Given the description of an element on the screen output the (x, y) to click on. 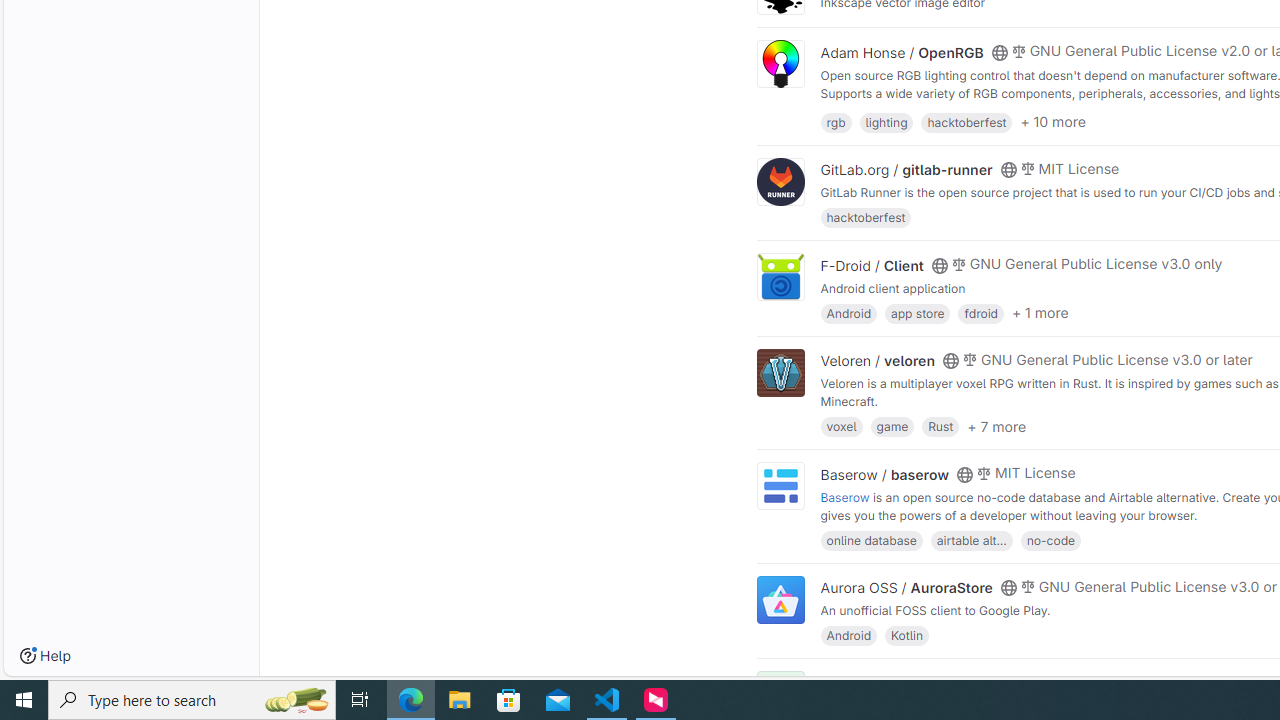
F-Droid / Client (872, 265)
airtable alt... (971, 539)
Adam Honse / OpenRGB (902, 52)
+ 7 more (996, 425)
Class: project (780, 599)
no-code (1050, 539)
online database (871, 539)
Baserow (845, 496)
Android (848, 634)
app store (917, 312)
voxel (841, 426)
Class: s16 (999, 683)
Baserow / baserow (884, 474)
+ 10 more (1053, 121)
Veloren / veloren (877, 361)
